Given the description of an element on the screen output the (x, y) to click on. 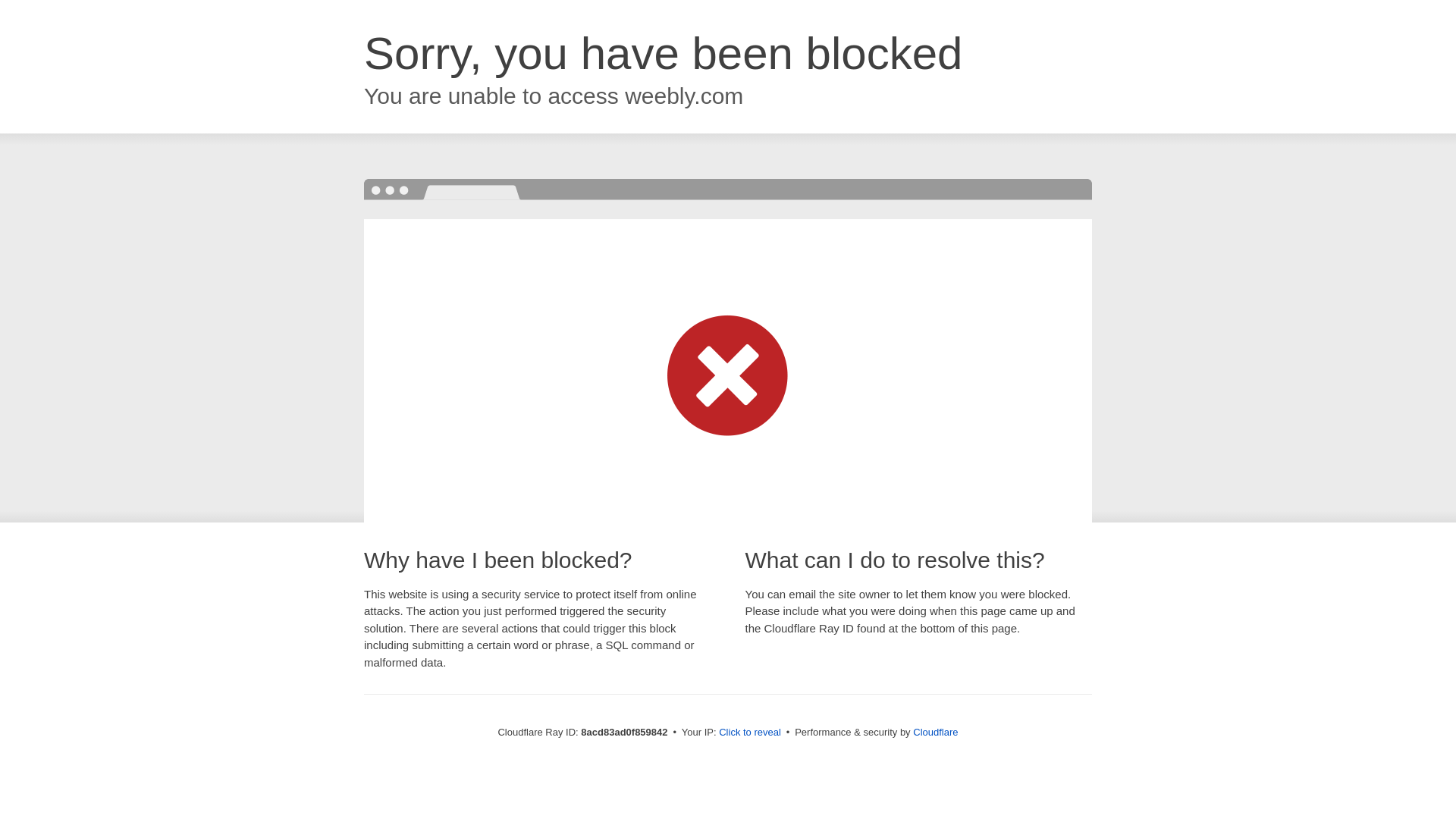
Cloudflare (935, 731)
Click to reveal (749, 732)
